Given the description of an element on the screen output the (x, y) to click on. 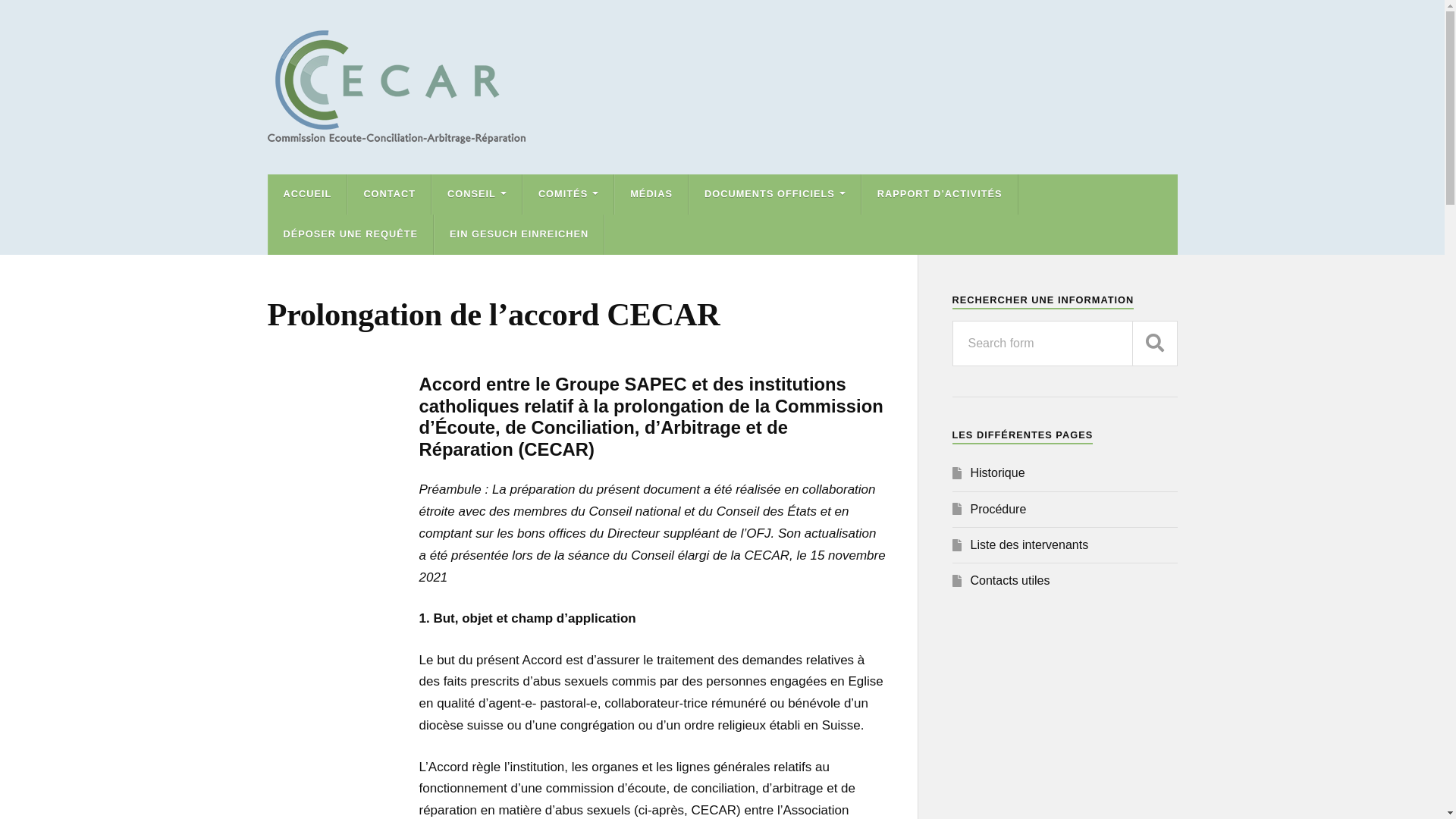
Liste des intervenants Element type: text (1029, 544)
DOCUMENTS OFFICIELS Element type: text (774, 194)
EIN GESUCH EINREICHEN Element type: text (518, 234)
ACCUEIL Element type: text (307, 194)
Historique Element type: text (997, 472)
CONSEIL Element type: text (476, 194)
CONTACT Element type: text (389, 194)
Contacts utiles Element type: text (1010, 580)
